Given the description of an element on the screen output the (x, y) to click on. 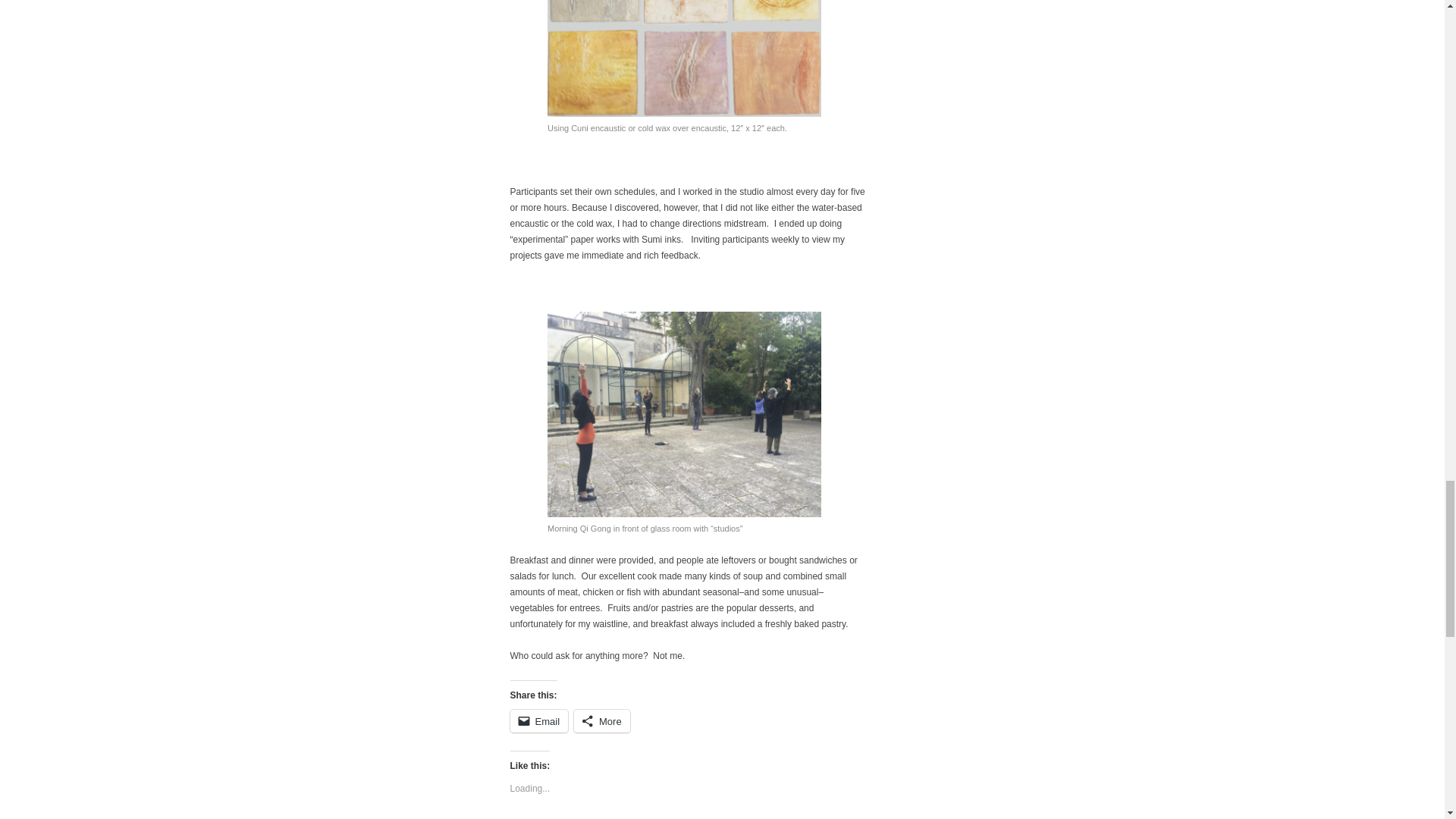
More (601, 721)
Email (540, 721)
Click to email a link to a friend (540, 721)
Morning Qi Gong in front of glass room with studios (684, 414)
